Given the description of an element on the screen output the (x, y) to click on. 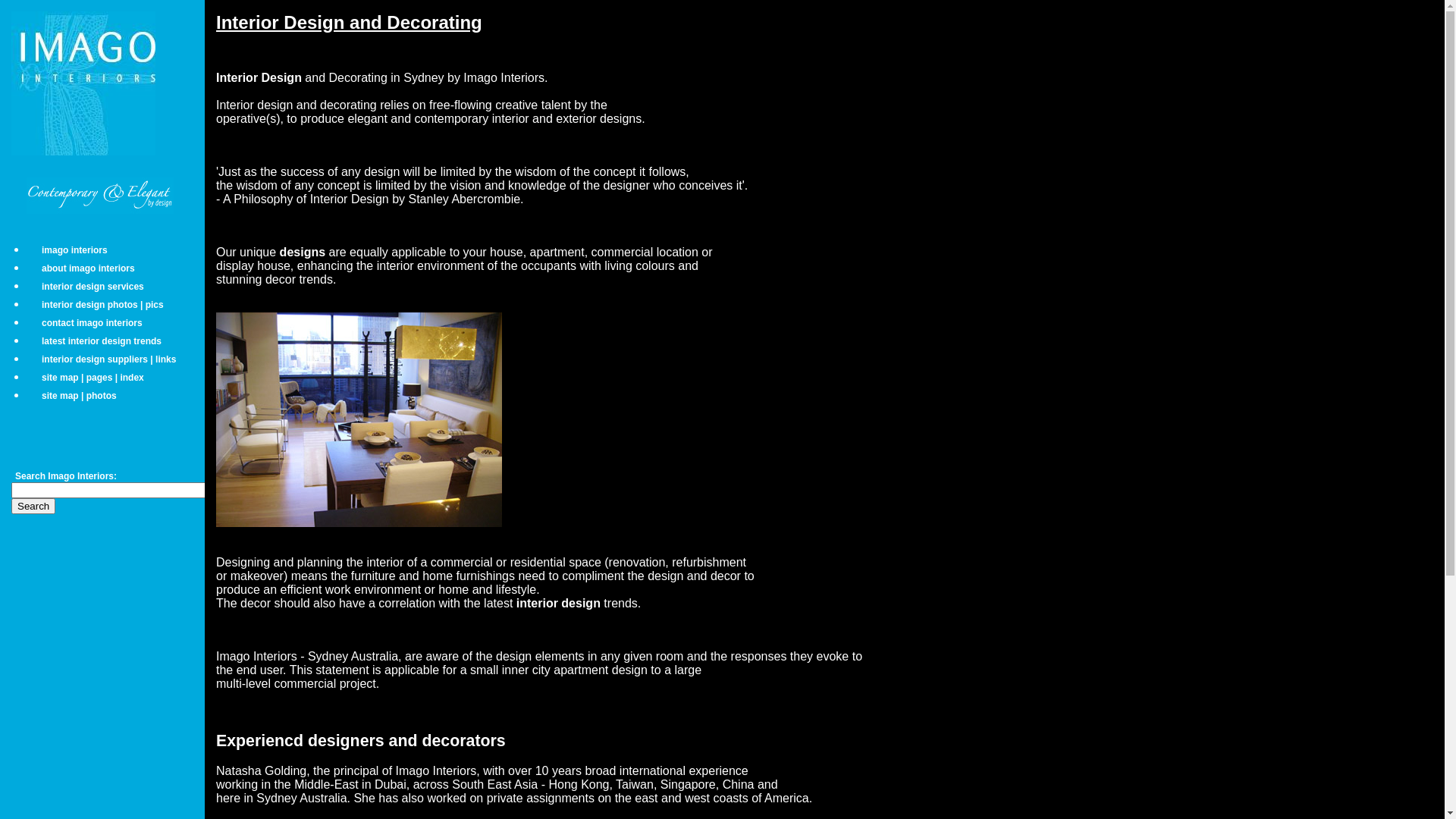
imago interiors Element type: text (74, 249)
elegant interior design Element type: hover (359, 419)
interior design photos | pics Element type: text (102, 304)
interior design services Element type: text (92, 286)
latest interior design trends Element type: text (101, 340)
Imago Interiors motto Element type: hover (121, 199)
about imago interiors Element type: text (87, 268)
interior design suppliers | links Element type: text (108, 359)
site map | photos Element type: text (78, 395)
contact imago interiors Element type: text (91, 322)
Imago Interiors logo Element type: hover (83, 83)
site map | pages | index Element type: text (92, 377)
Search Element type: text (33, 506)
